Given the description of an element on the screen output the (x, y) to click on. 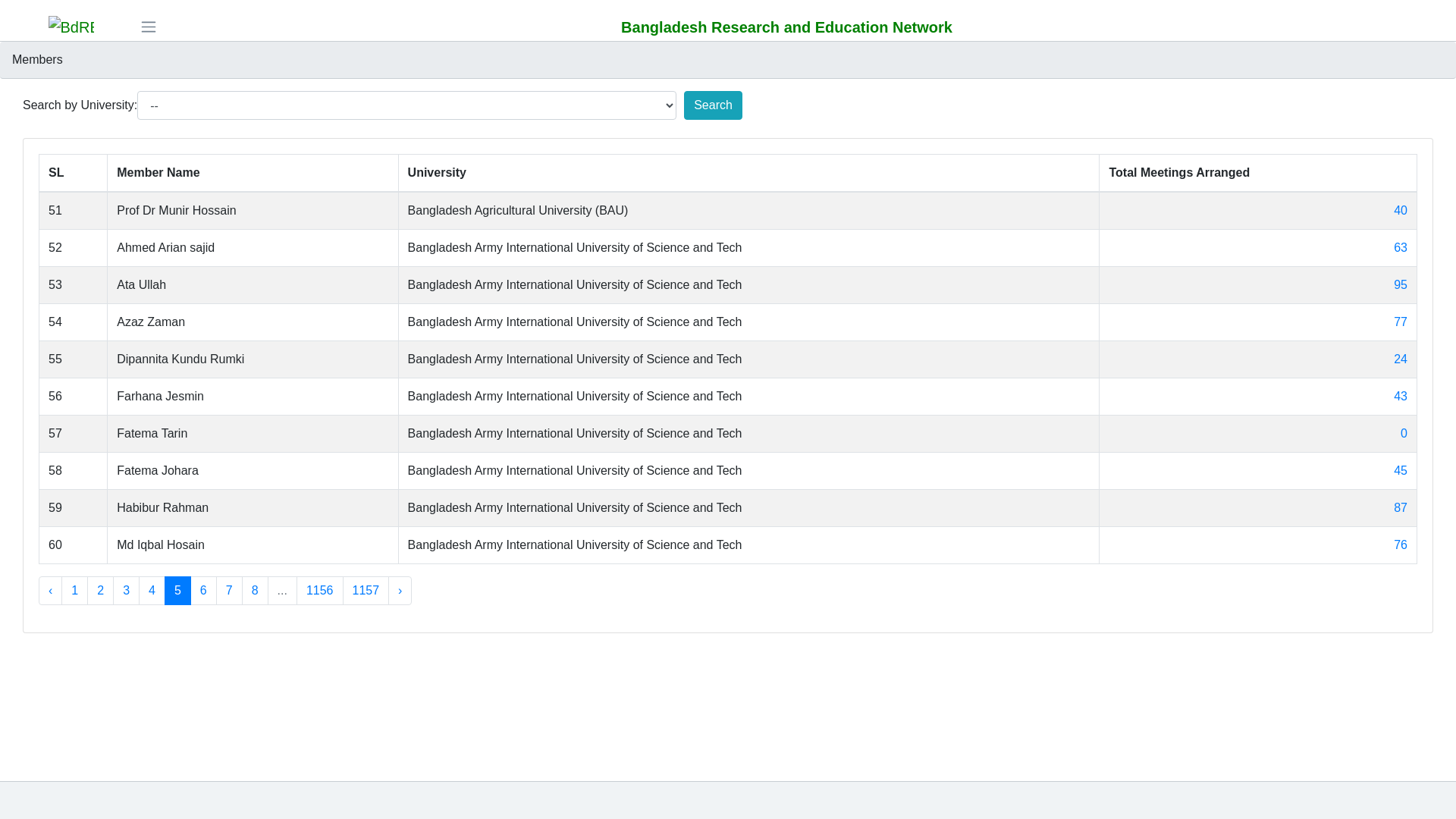
40 Element type: text (1400, 209)
45 Element type: text (1400, 470)
8 Element type: text (254, 590)
63 Element type: text (1400, 247)
2 Element type: text (100, 590)
Search Element type: text (713, 105)
4 Element type: text (151, 590)
3 Element type: text (125, 590)
1156 Element type: text (319, 590)
24 Element type: text (1400, 358)
6 Element type: text (203, 590)
7 Element type: text (229, 590)
95 Element type: text (1400, 284)
77 Element type: text (1400, 321)
0 Element type: text (1403, 432)
1157 Element type: text (365, 590)
76 Element type: text (1400, 544)
1 Element type: text (74, 590)
87 Element type: text (1400, 507)
43 Element type: text (1400, 395)
